Given the description of an element on the screen output the (x, y) to click on. 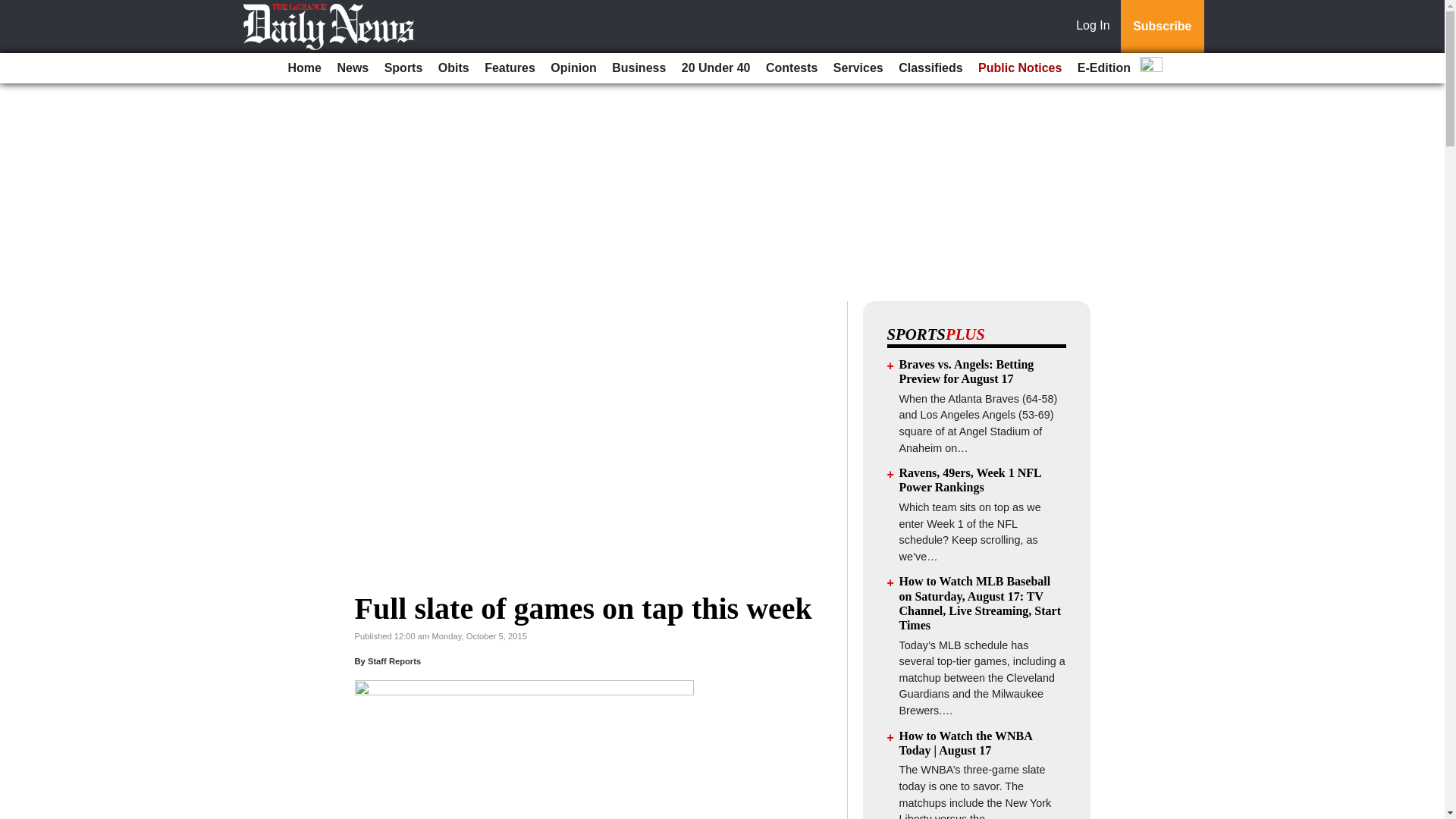
Go (13, 9)
Opinion (573, 68)
20 Under 40 (716, 68)
Ravens, 49ers, Week 1 NFL Power Rankings (970, 479)
Classifieds (930, 68)
Business (638, 68)
Home (304, 68)
Public Notices (1019, 68)
E-Edition (1104, 68)
